Given the description of an element on the screen output the (x, y) to click on. 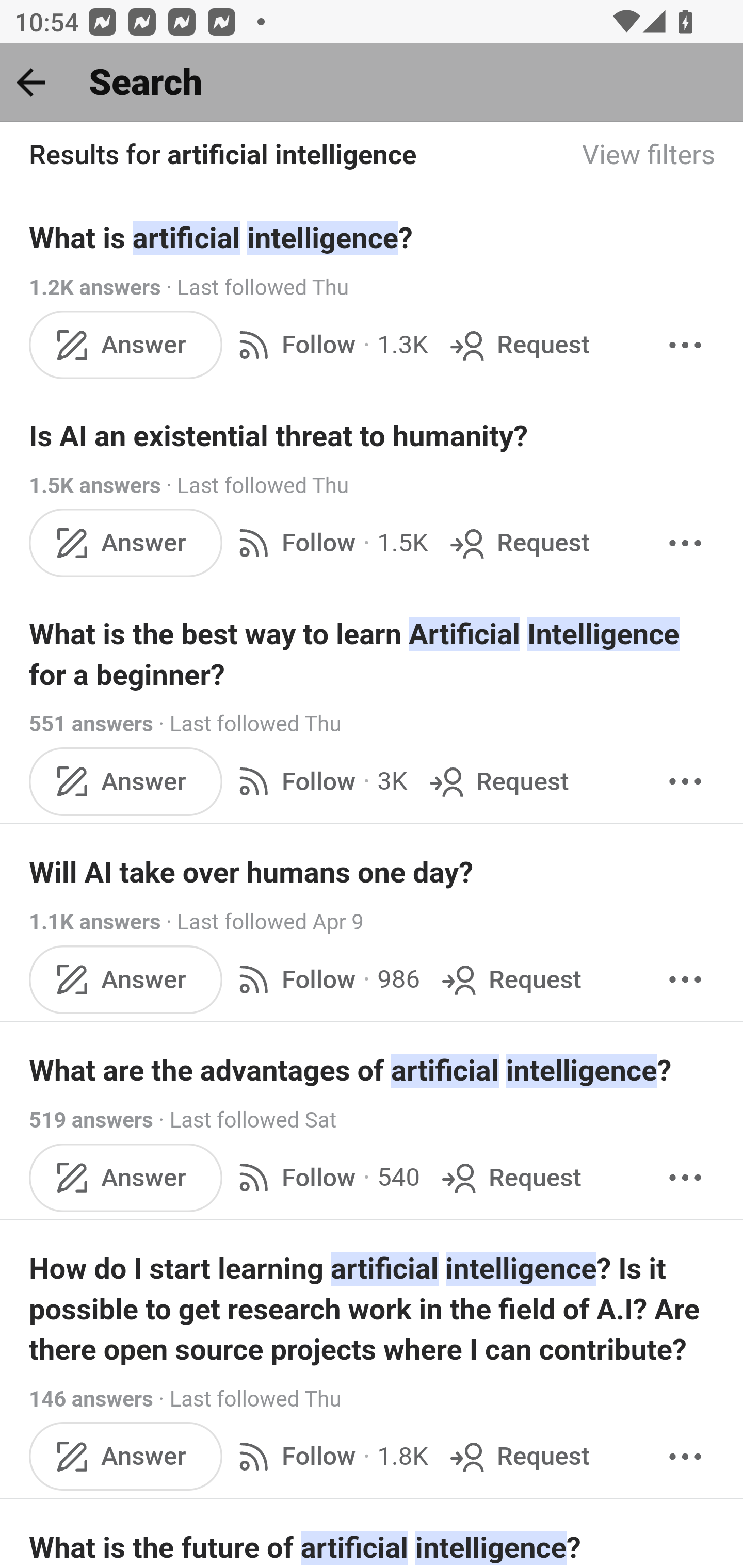
Back Search (371, 82)
Back (30, 82)
View filters (648, 155)
What is artificial intelligence? (372, 237)
1.2K answers 1.2K  answers (95, 287)
Answer (125, 343)
Follow · 1.3K (329, 343)
Request (517, 343)
More (684, 343)
Is AI an existential threat to humanity? (372, 436)
1.5K answers 1.5K  answers (95, 484)
Answer (125, 543)
Follow · 1.5K (329, 543)
Request (517, 543)
More (684, 543)
551 answers 551  answers (90, 723)
Answer (125, 781)
Follow · 3K (318, 781)
Request (496, 781)
More (684, 781)
Will AI take over humans one day? (372, 872)
1.1K answers 1.1K  answers (95, 922)
Answer (125, 979)
Follow · 986 (324, 979)
Request (509, 979)
More (684, 979)
519 answers 519  answers (90, 1120)
Answer (125, 1176)
Follow · 540 (324, 1176)
Request (509, 1176)
More (684, 1176)
146 answers 146  answers (90, 1399)
Answer (125, 1456)
Follow · 1.8K (329, 1456)
Request (517, 1456)
More (684, 1456)
What is the future of artificial intelligence? (372, 1546)
